Given the description of an element on the screen output the (x, y) to click on. 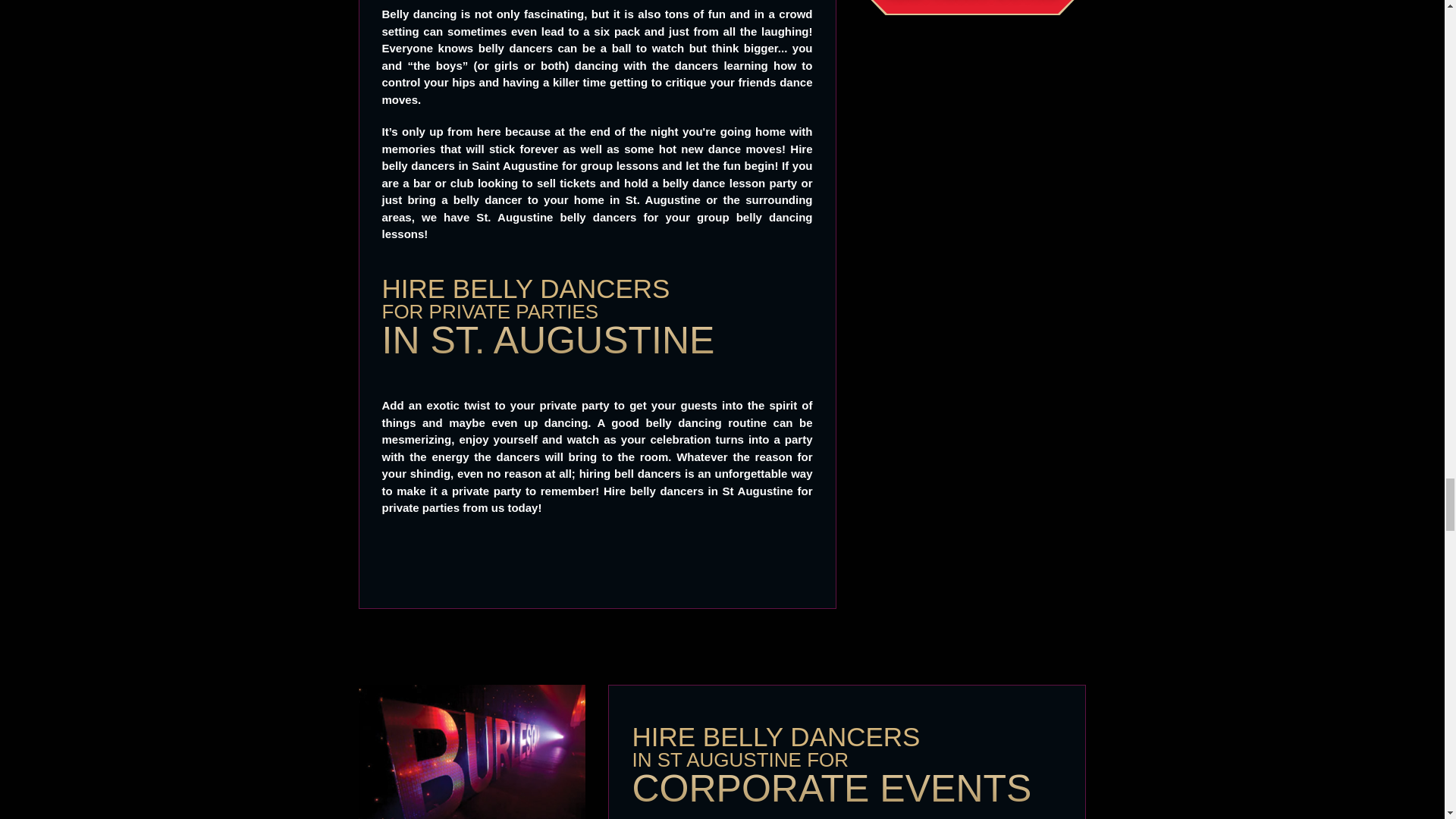
HIRE A BELLY DANCER (972, 6)
